Given the description of an element on the screen output the (x, y) to click on. 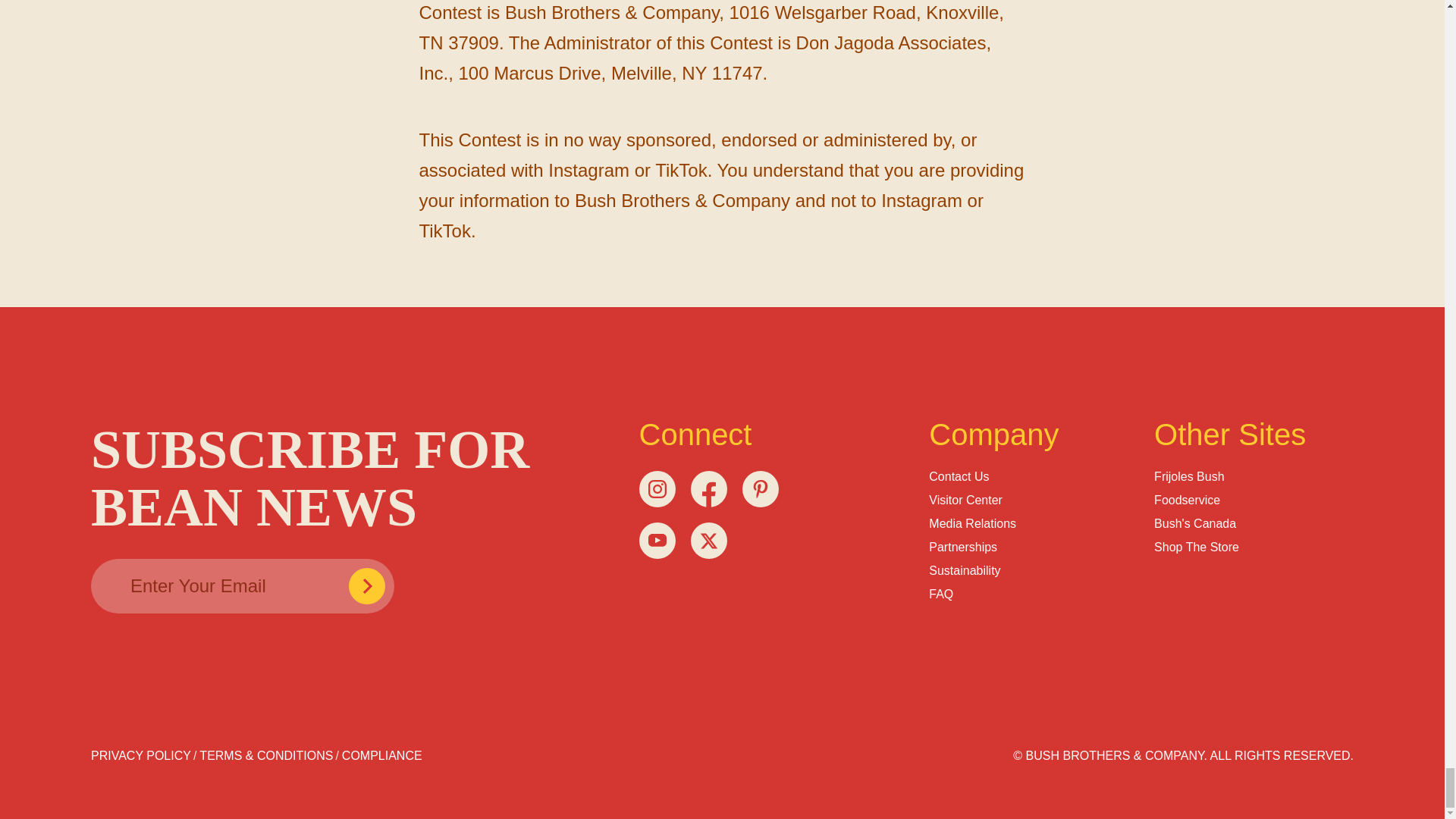
Facebook (708, 488)
Twitter (708, 539)
YouTube (657, 539)
Instagram (657, 488)
Click to submit email address (367, 585)
Pinterest (759, 488)
